Given the description of an element on the screen output the (x, y) to click on. 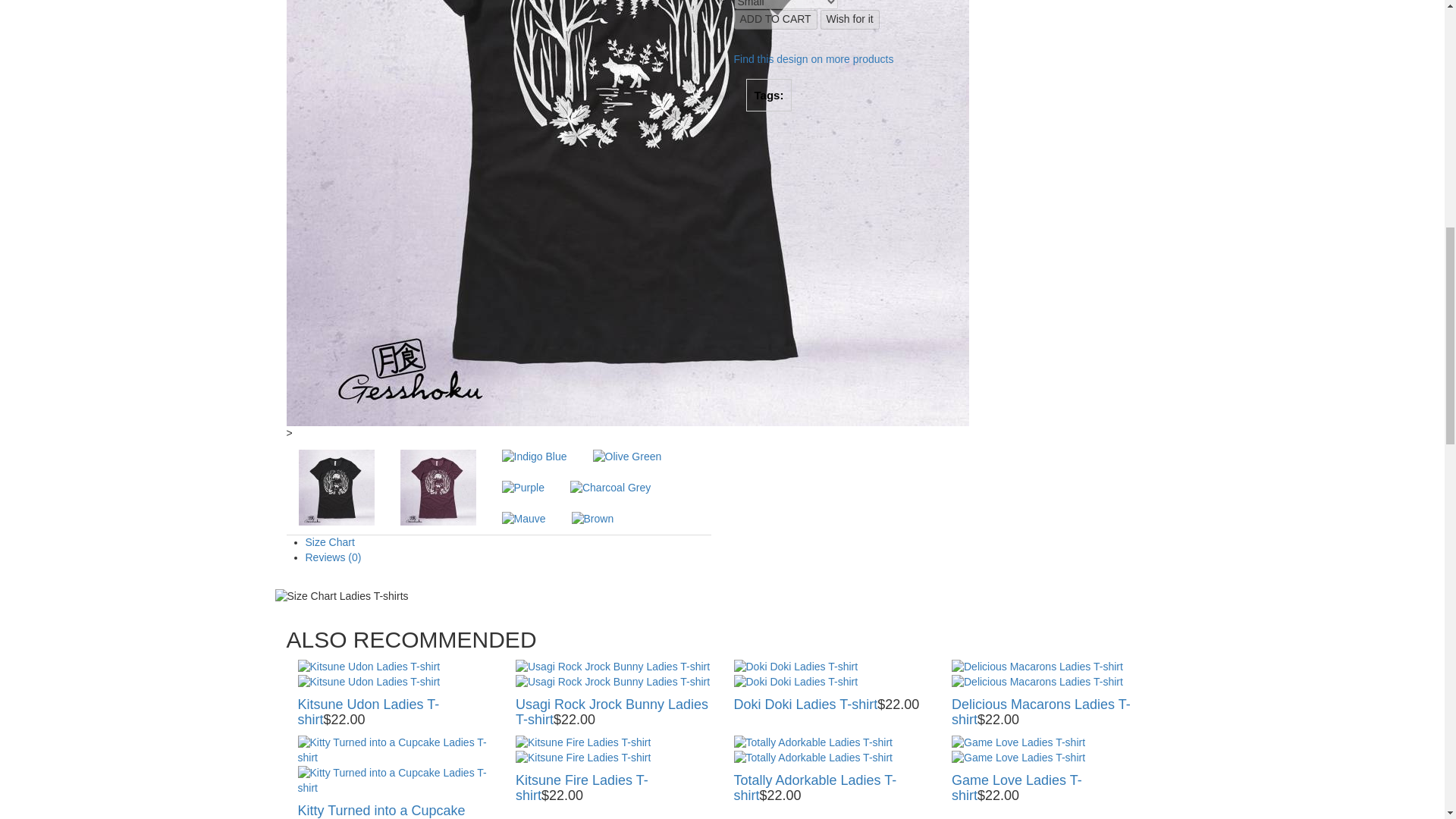
 Black  (336, 487)
 Usagi Rock Jrock Bunny Ladies T-shirt  (612, 682)
 Charcoal Grey  (610, 488)
 Indigo Blue  (534, 457)
 Maroon  (438, 487)
 Mauve  (524, 519)
 Usagi Rock Jrock Bunny Ladies T-shirt  (612, 667)
 Kitsune Udon Ladies T-shirt  (368, 667)
 Kitsune Udon Ladies T-shirt  (368, 682)
